Given the description of an element on the screen output the (x, y) to click on. 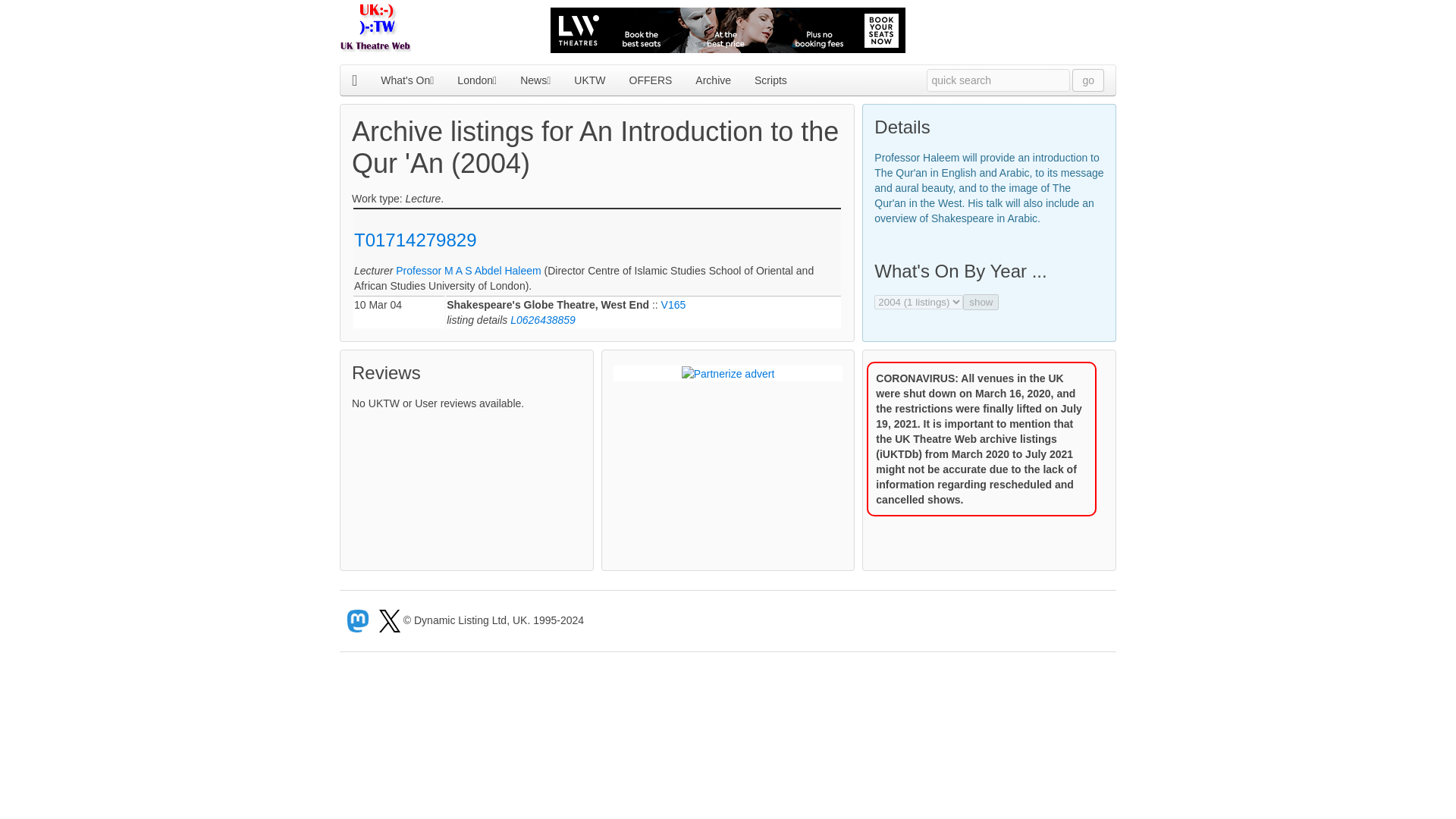
Archive (712, 79)
News (535, 79)
OFFERS (650, 79)
advert (727, 30)
show (980, 302)
UKTW (589, 79)
advert (727, 373)
go (1087, 78)
Home (354, 79)
Scripts (770, 79)
